Given the description of an element on the screen output the (x, y) to click on. 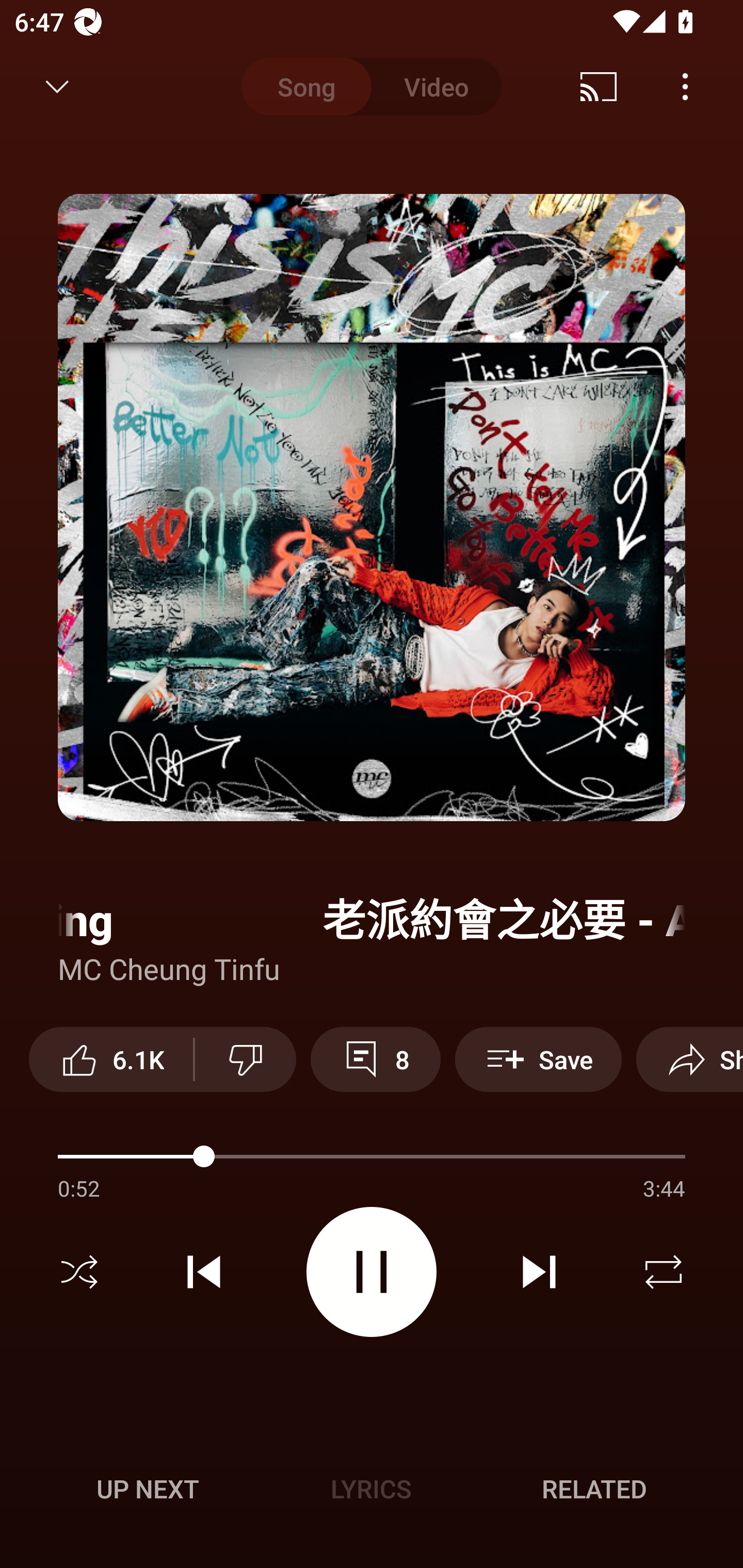
Minimize (57, 86)
Cast. Disconnected (598, 86)
Menu (684, 86)
6.1K like this video along with 6,122 other people (110, 1059)
Dislike (245, 1059)
8 View 8 comments (375, 1059)
Save Save to playlist (537, 1059)
Share (689, 1059)
Pause video (371, 1272)
Shuffle off (79, 1272)
Previous track (203, 1272)
Next track (538, 1272)
Repeat off (663, 1272)
Up next UP NEXT Lyrics LYRICS Related RELATED (371, 1491)
Lyrics LYRICS (370, 1488)
Related RELATED (594, 1488)
